Given the description of an element on the screen output the (x, y) to click on. 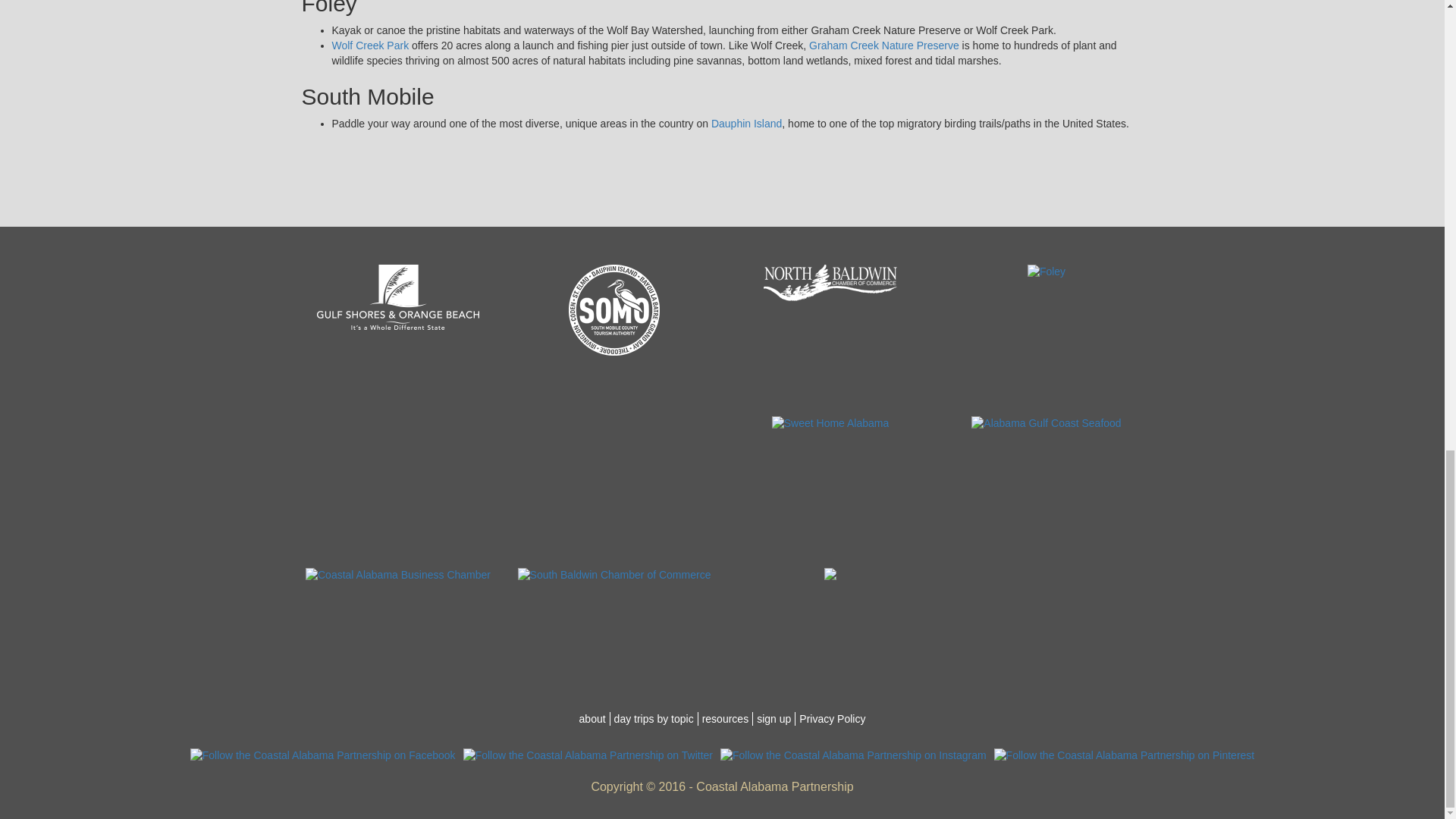
Wolf Creek Park (370, 45)
Dauphin Island (746, 123)
Graham Creek Nature Preserve (884, 45)
